Given the description of an element on the screen output the (x, y) to click on. 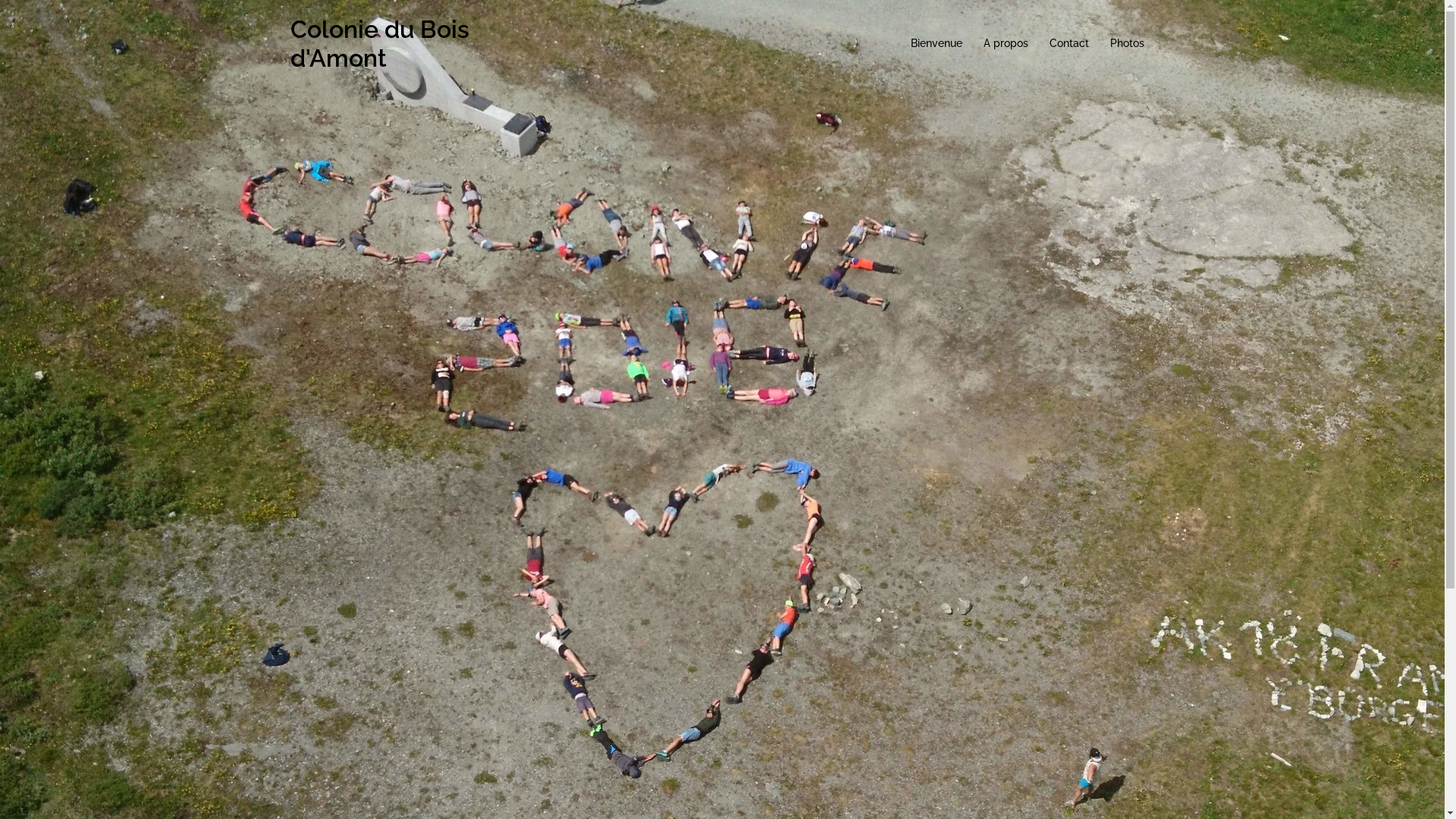
Colonie du Bois d'Amont Element type: text (378, 43)
A propos Element type: text (1004, 43)
Photos Element type: text (1127, 43)
Bienvenue Element type: text (935, 43)
Contact Element type: text (1068, 43)
